Given the description of an element on the screen output the (x, y) to click on. 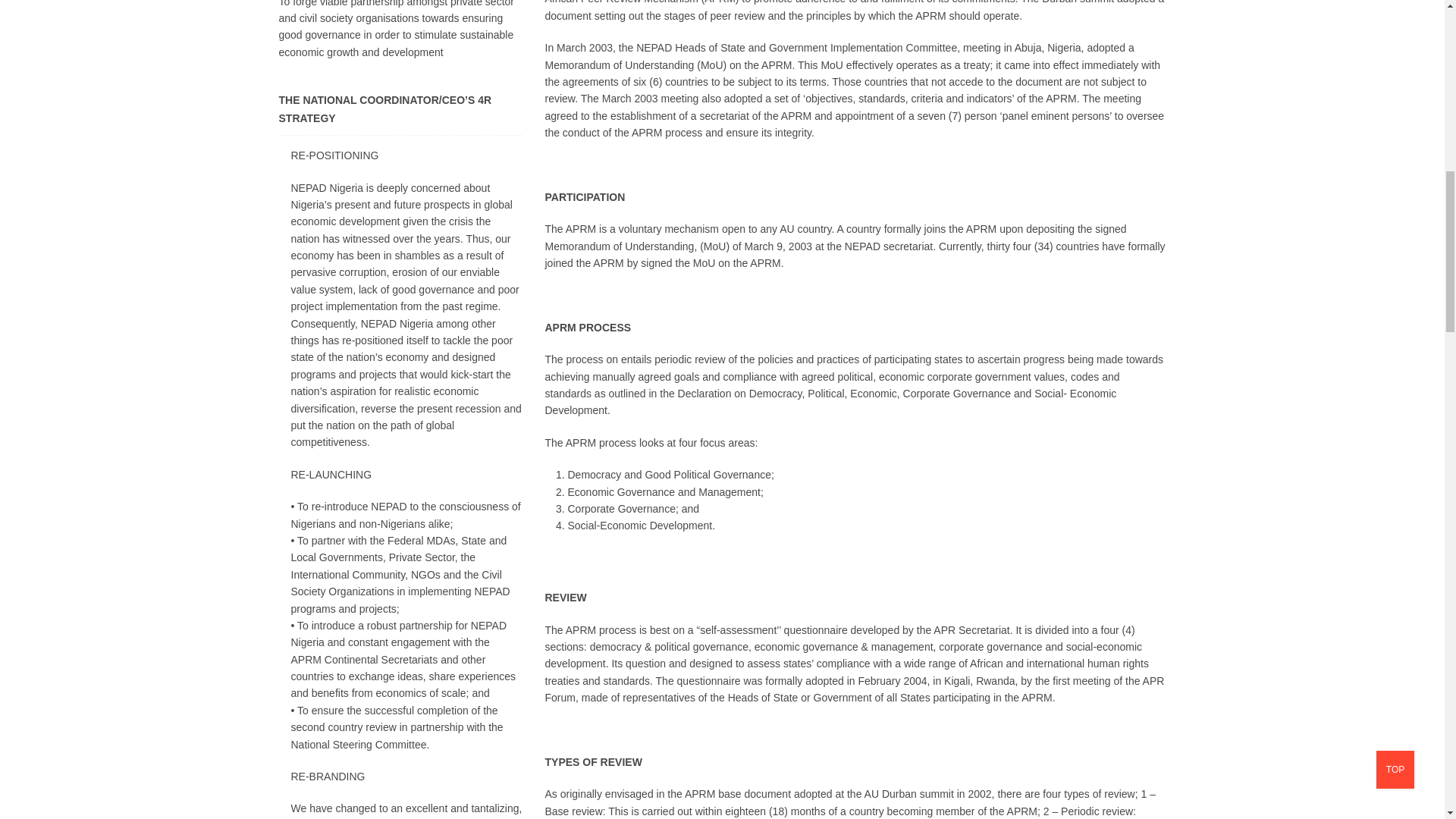
RE-LAUNCHING (325, 478)
RE-POSITIONING (328, 158)
RE-BRANDING (322, 780)
